Given the description of an element on the screen output the (x, y) to click on. 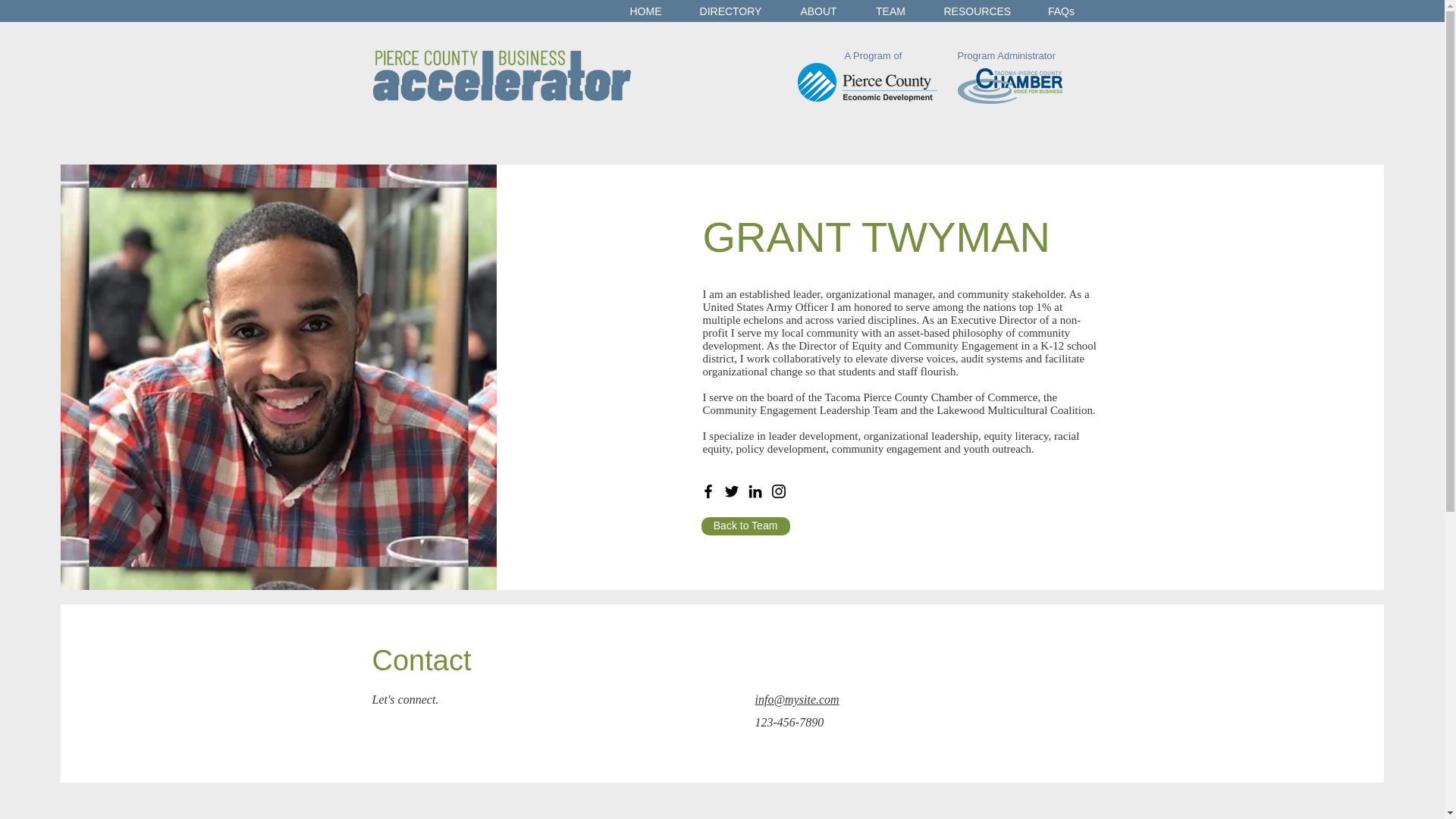
TEAM (890, 11)
ABOUT (818, 11)
Back to Team (745, 525)
RESOURCES (976, 11)
HOME (646, 11)
DIRECTORY (730, 11)
FAQs (1060, 11)
